Given the description of an element on the screen output the (x, y) to click on. 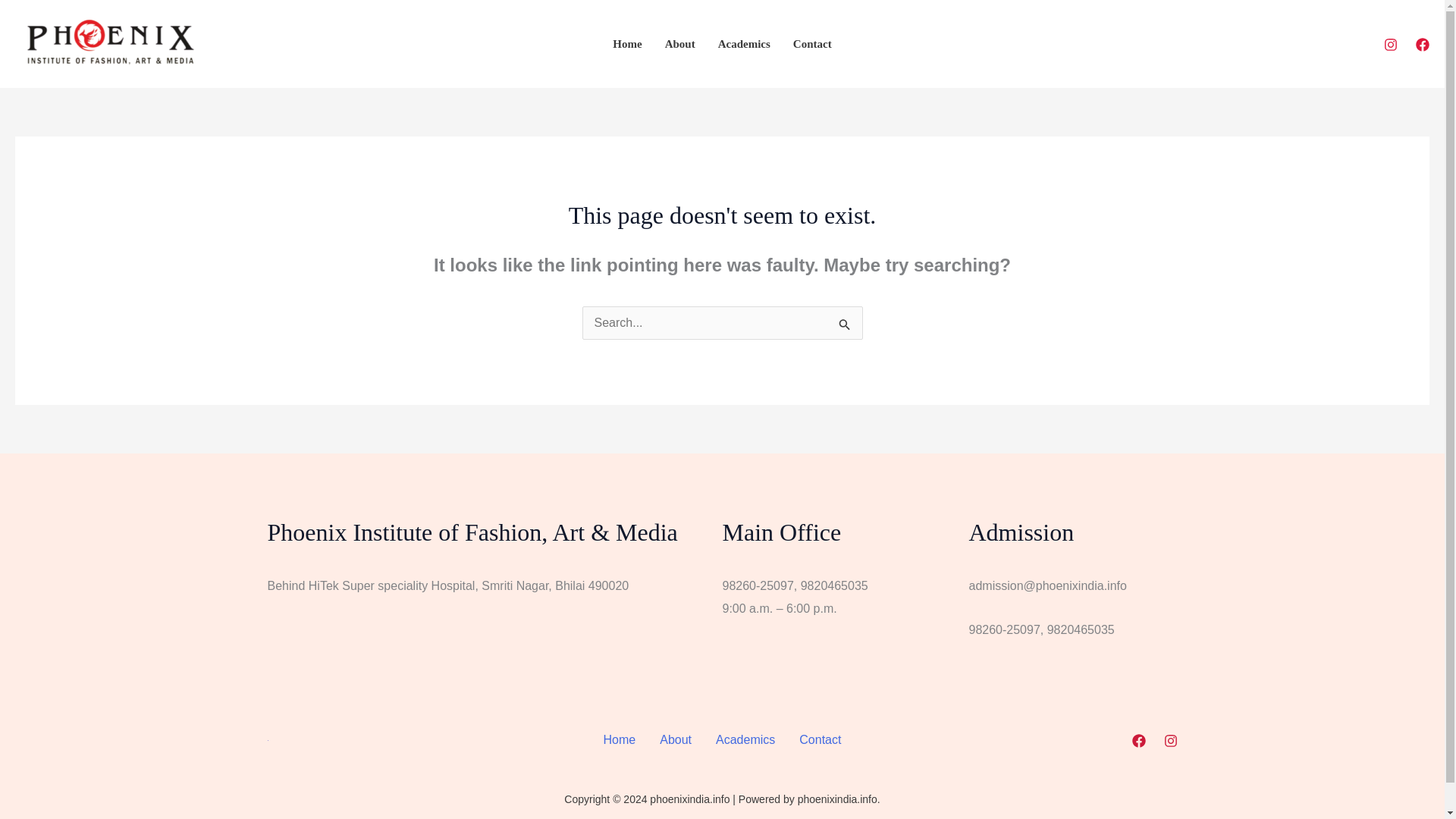
Academics (745, 739)
About (675, 739)
Home (619, 739)
Academics (743, 43)
Contact (820, 739)
